Given the description of an element on the screen output the (x, y) to click on. 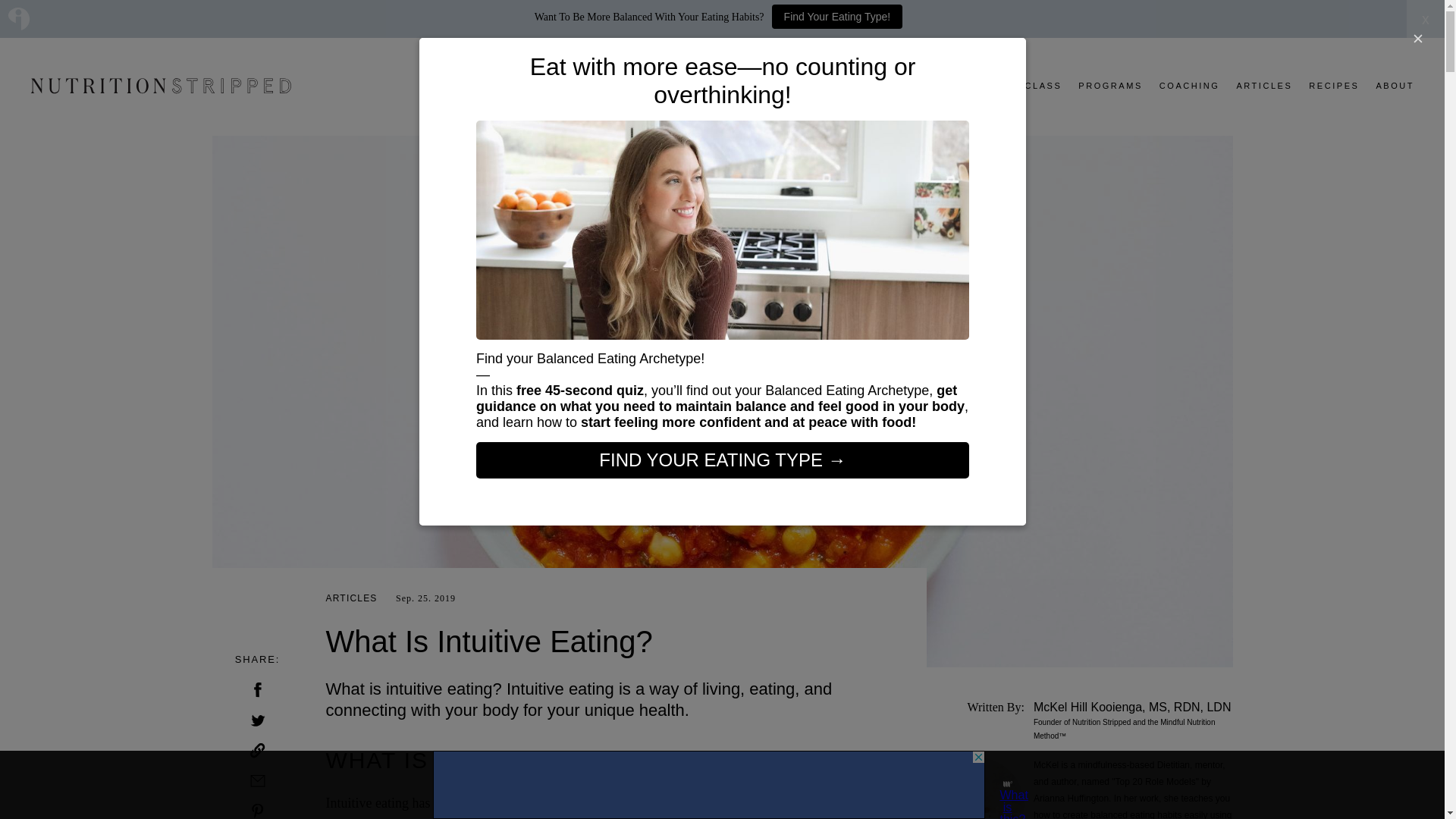
3rd party ad content (708, 785)
Find Your Eating Type! (836, 16)
LOG IN (1337, 18)
QUIZ (947, 85)
